Given the description of an element on the screen output the (x, y) to click on. 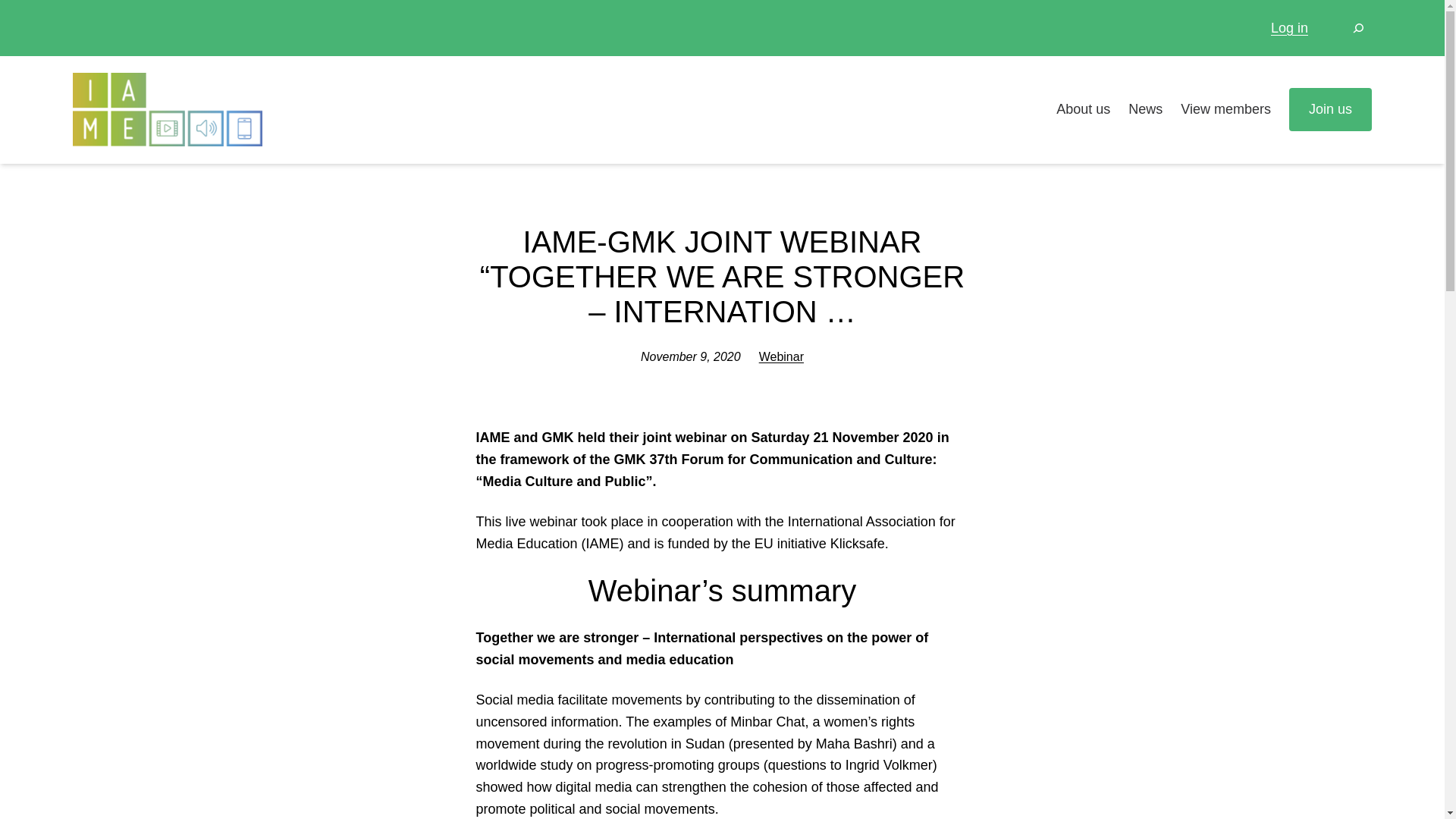
About us (1083, 109)
View members (1225, 109)
Log in (1289, 27)
Webinar (780, 356)
Join us (1329, 109)
News (1144, 109)
